Given the description of an element on the screen output the (x, y) to click on. 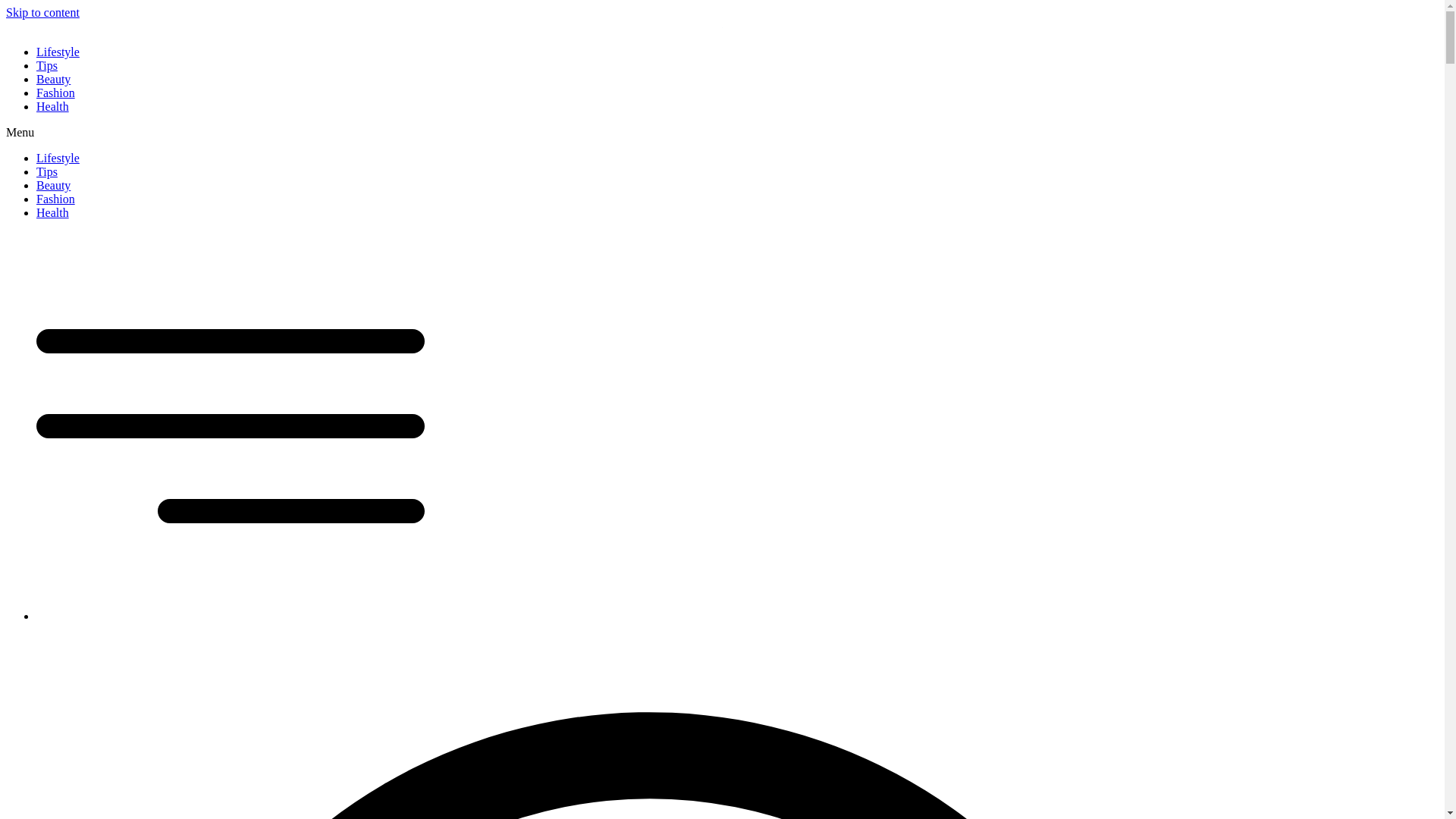
Tips (47, 171)
Skip to content (42, 11)
Fashion (55, 198)
Lifestyle (58, 51)
Lifestyle (58, 157)
Beauty (52, 185)
Beauty (52, 78)
Health (52, 106)
Tips (47, 65)
Health (52, 212)
Fashion (55, 92)
